Given the description of an element on the screen output the (x, y) to click on. 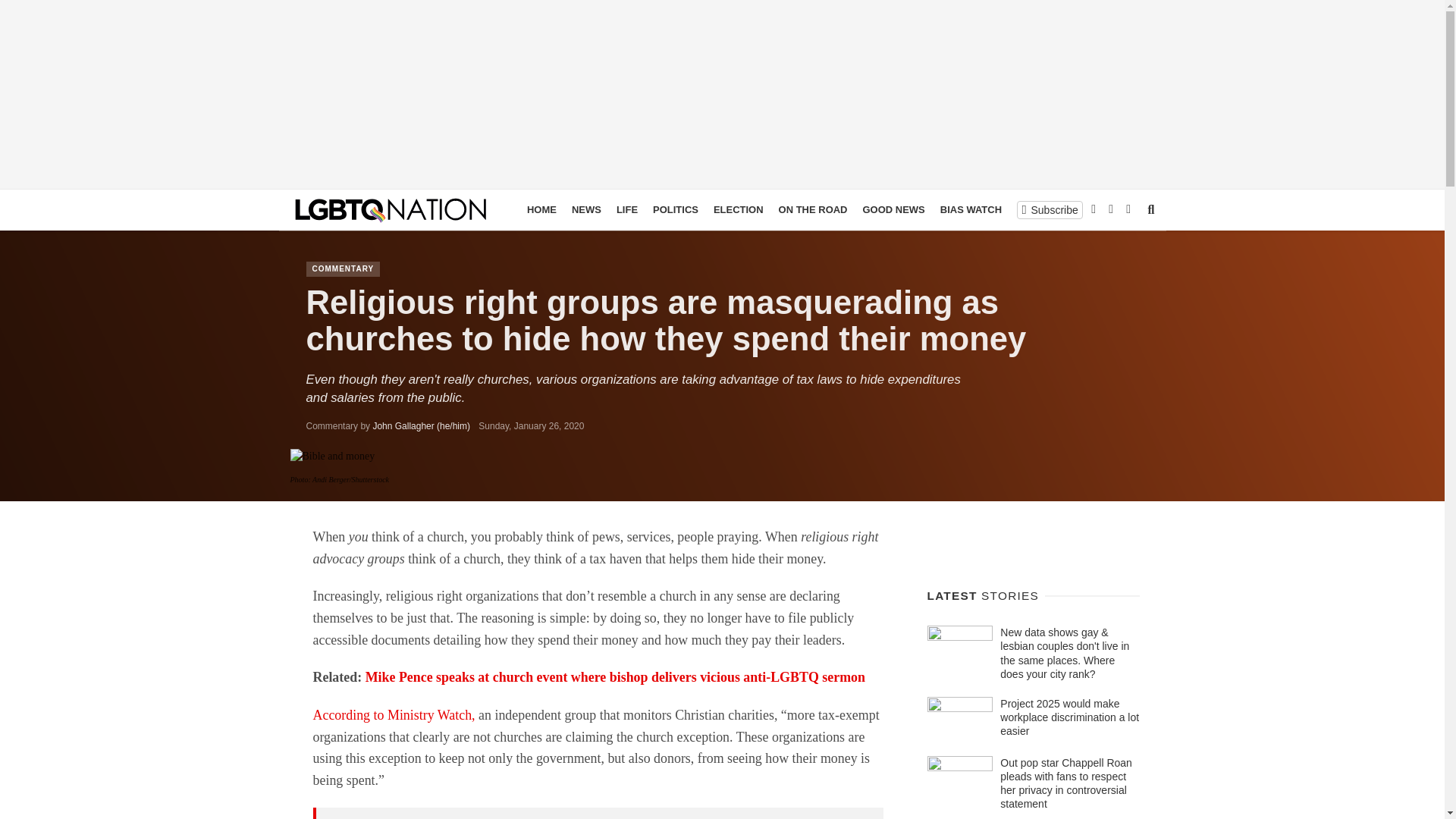
Subscribe (1049, 209)
Sunday, January 26, 2020 am31 11:00:59 (531, 425)
Bible and money (331, 456)
HOME (541, 209)
ELECTION (738, 209)
BIAS WATCH (971, 209)
According to Ministry Watch, (393, 714)
NEWS (586, 209)
ON THE ROAD (813, 209)
COMMENTARY (1051, 209)
